Given the description of an element on the screen output the (x, y) to click on. 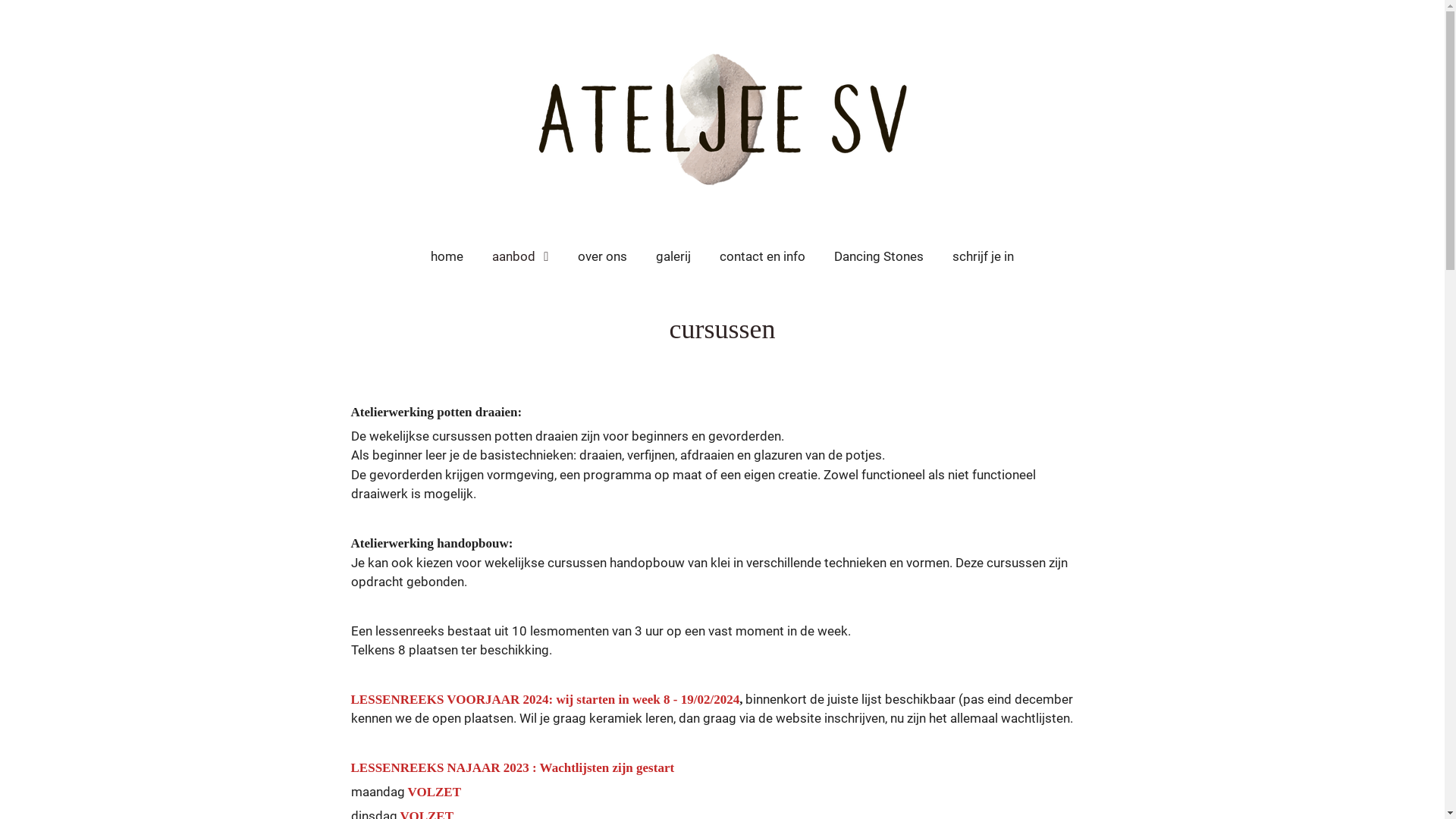
Dancing Stones Element type: text (878, 255)
home Element type: text (446, 255)
galerij Element type: text (672, 255)
Ateljee SV Element type: hover (721, 117)
contact en info Element type: text (761, 255)
aanbod Element type: text (519, 255)
schrijf je in Element type: text (982, 255)
over ons Element type: text (602, 255)
